Given the description of an element on the screen output the (x, y) to click on. 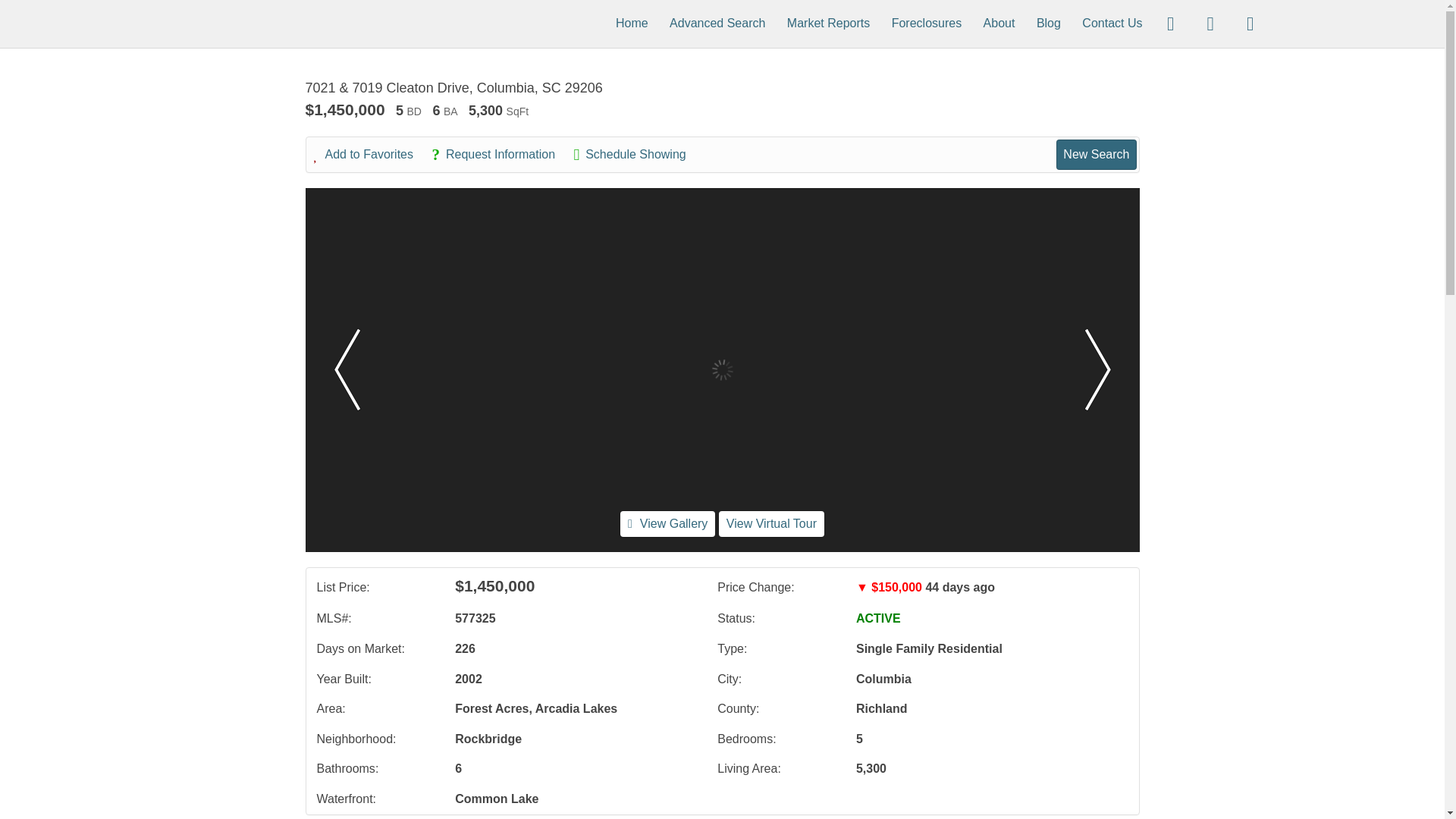
Schedule Showing (636, 154)
New Search (1096, 154)
Home (631, 22)
Foreclosures (925, 22)
Request Information (500, 154)
View Virtual Tour (771, 522)
Blog (1048, 22)
Add to Favorites (371, 154)
Advanced Search (717, 22)
Contact Us (1111, 22)
